Given the description of an element on the screen output the (x, y) to click on. 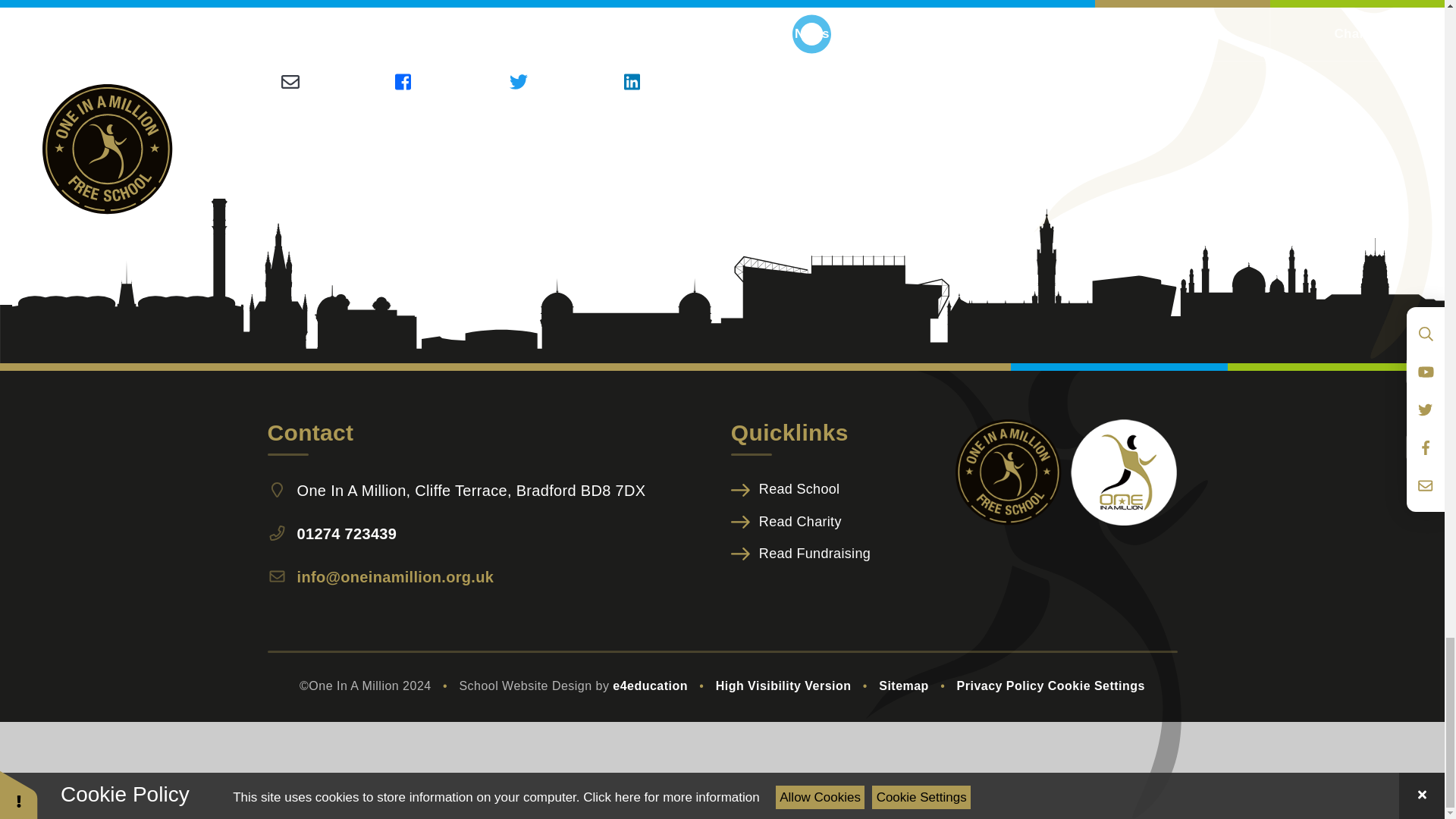
Cookie Settings (1096, 685)
